Given the description of an element on the screen output the (x, y) to click on. 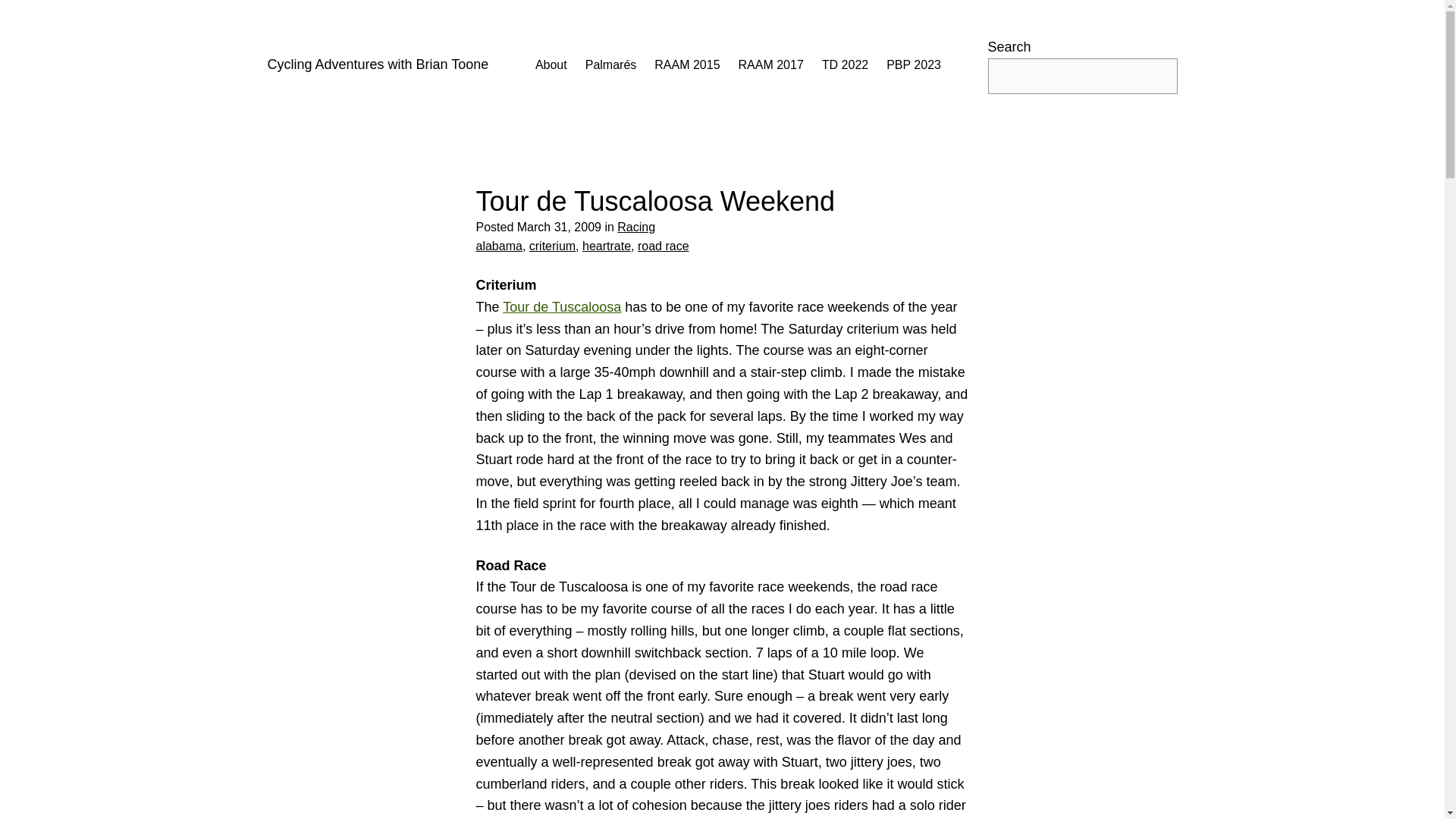
RAAM 2015 (686, 65)
road race (662, 245)
Tour de Tuscaloosa (561, 306)
criterium (552, 245)
TD 2022 (844, 65)
heartrate (606, 245)
alabama (499, 245)
RAAM 2017 (770, 65)
About (551, 65)
Racing (636, 226)
